Given the description of an element on the screen output the (x, y) to click on. 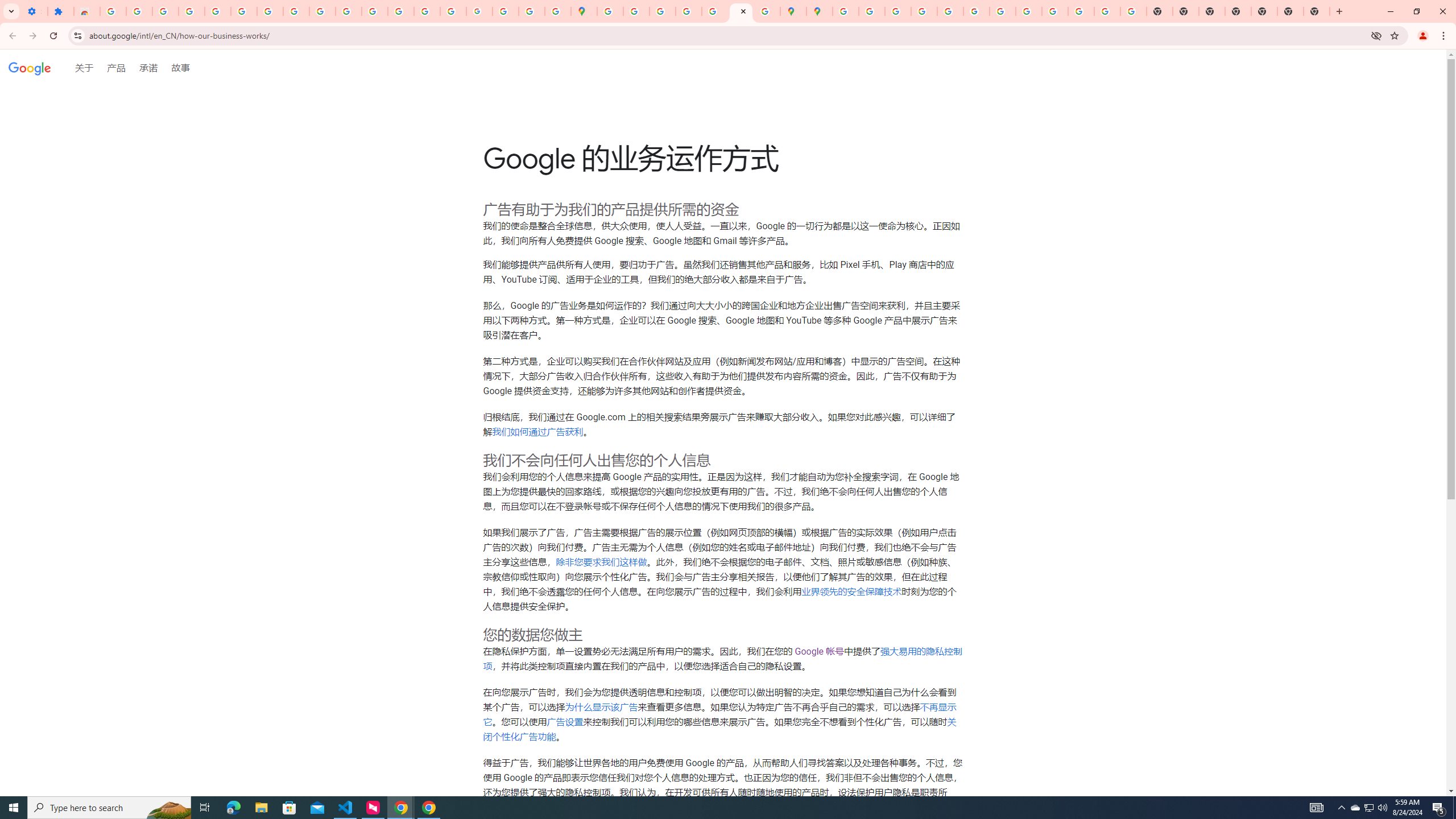
YouTube (1002, 11)
Third-party cookies blocked (1376, 35)
Google Account (296, 11)
YouTube (322, 11)
Sign in - Google Accounts (243, 11)
Reviews: Helix Fruit Jump Arcade Game (86, 11)
Safety in Our Products - Google Safety Center (766, 11)
Sign in - Google Accounts (845, 11)
